Given the description of an element on the screen output the (x, y) to click on. 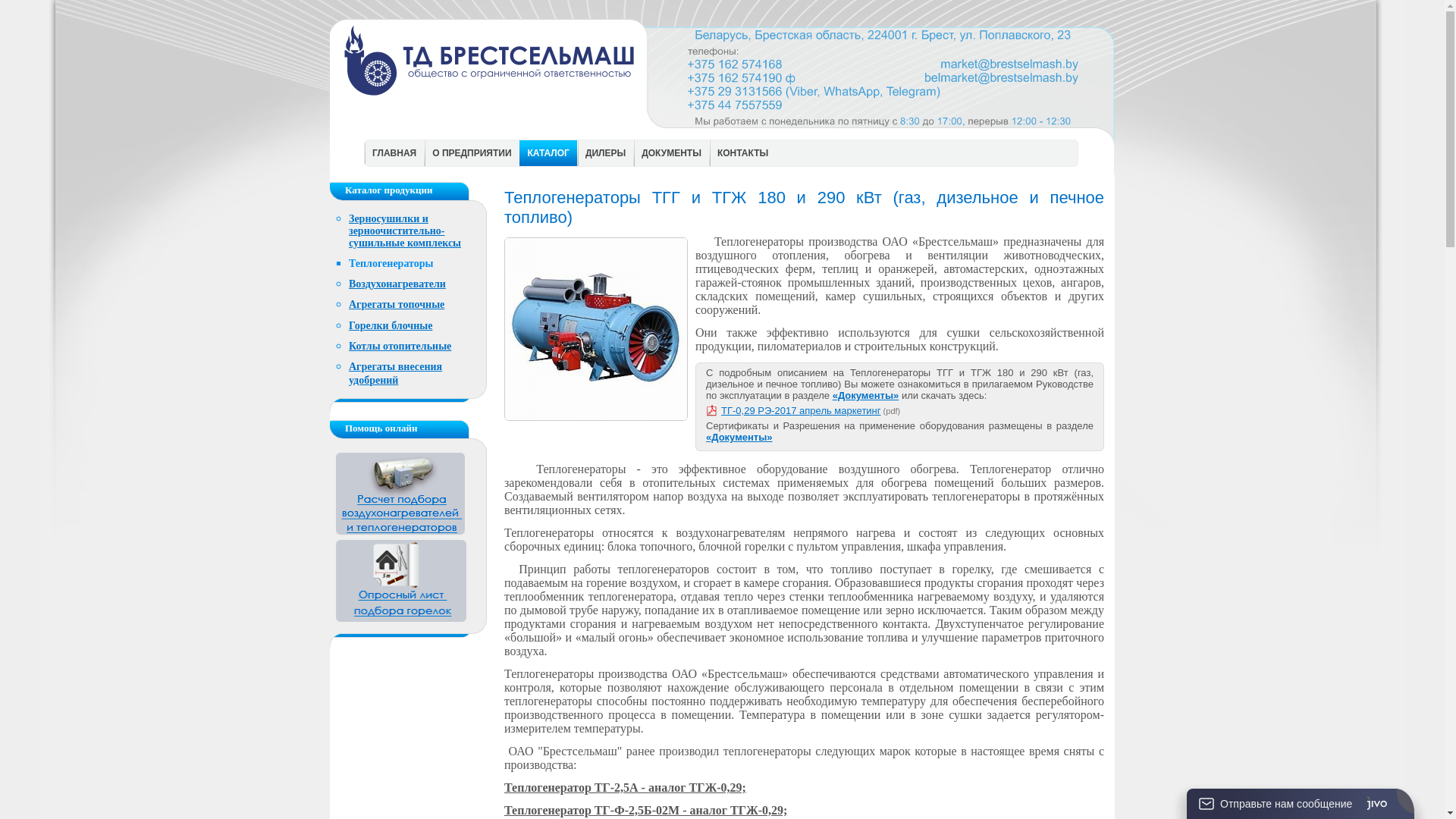
Home Element type: hover (490, 117)
